Given the description of an element on the screen output the (x, y) to click on. 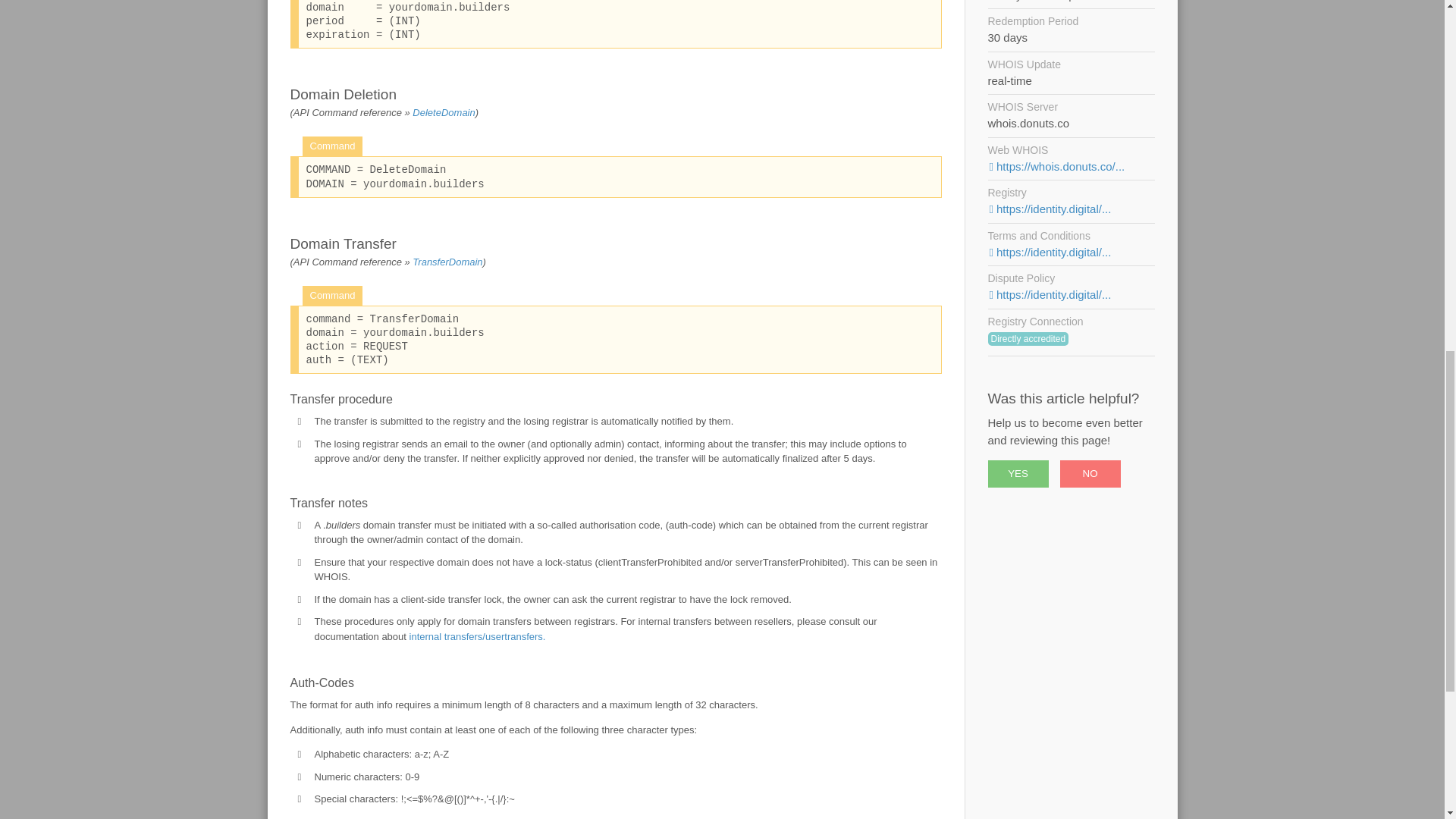
YES (1017, 473)
NO (1090, 473)
